Given the description of an element on the screen output the (x, y) to click on. 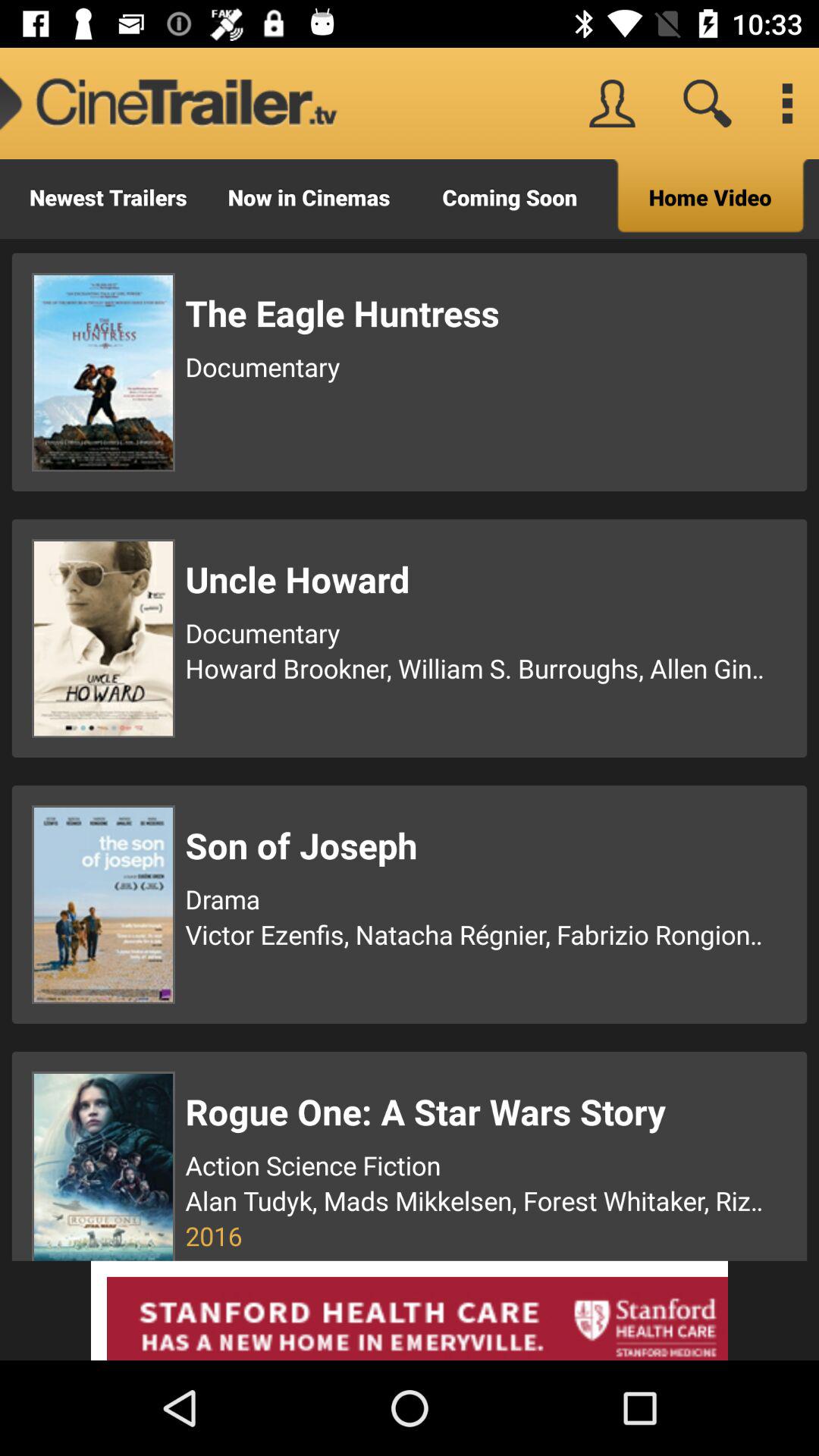
tap the victor ezenfis natacha item (476, 934)
